Given the description of an element on the screen output the (x, y) to click on. 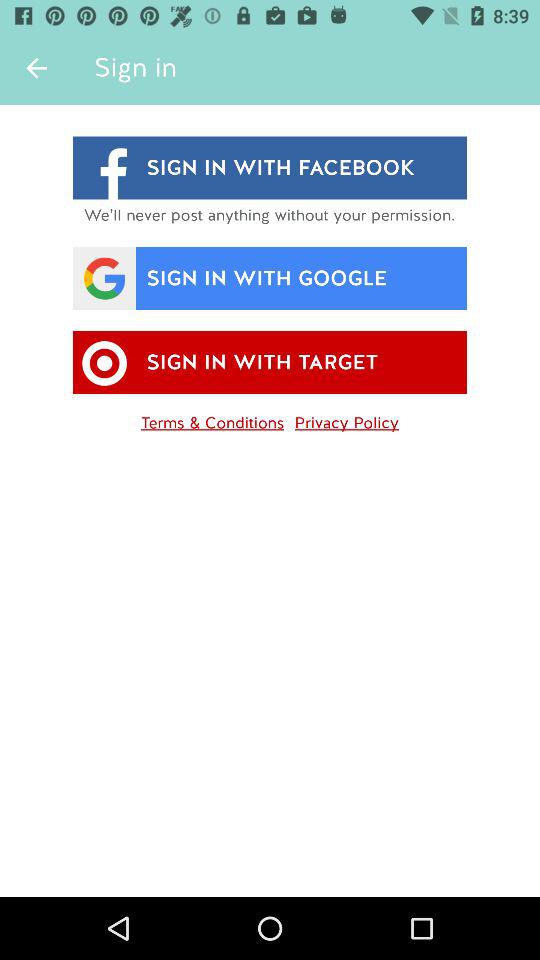
press privacy policy icon (346, 419)
